Given the description of an element on the screen output the (x, y) to click on. 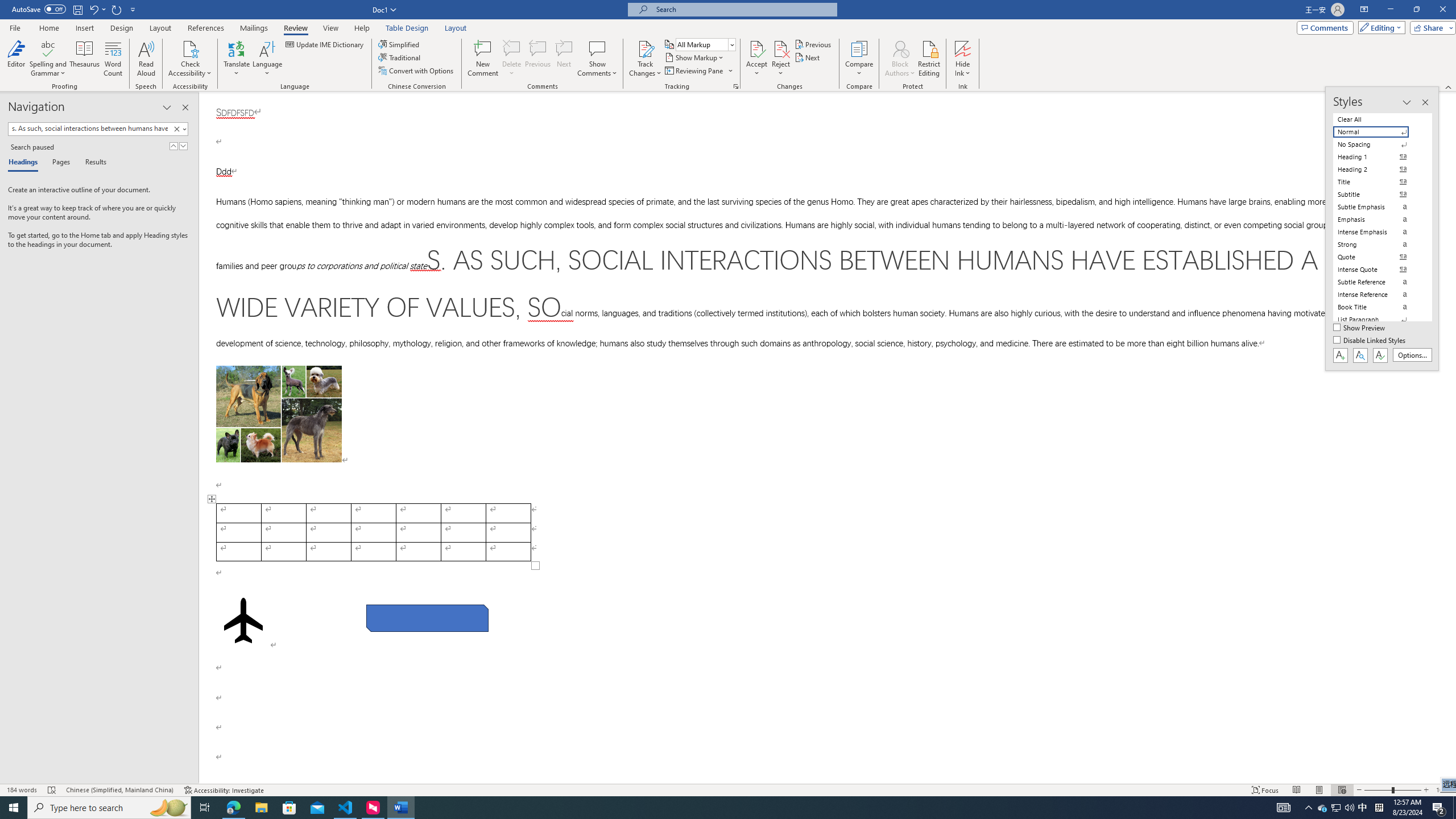
Word Count 184 words (22, 790)
Update IME Dictionary... (324, 44)
Next Result (183, 145)
Intense Reference (1377, 294)
No Spacing (1377, 144)
Subtle Emphasis (1377, 206)
Normal (1377, 131)
Hide Ink (962, 48)
Zoom 100% (1443, 790)
